Given the description of an element on the screen output the (x, y) to click on. 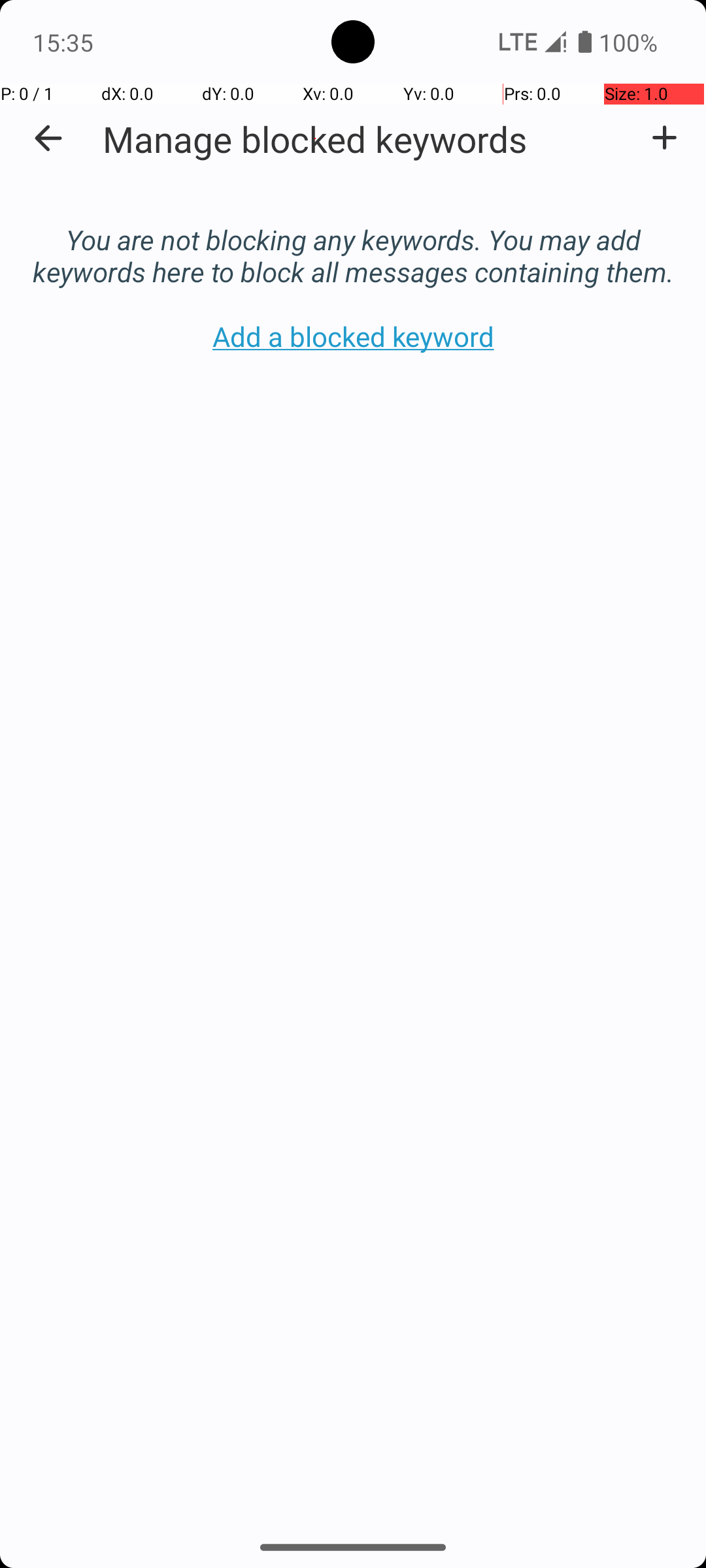
Manage blocked keywords Element type: android.widget.TextView (314, 138)
Add a blocked keyword Element type: android.widget.Button (664, 137)
You are not blocking any keywords. You may add keywords here to block all messages containing them. Element type: android.widget.TextView (353, 241)
